Given the description of an element on the screen output the (x, y) to click on. 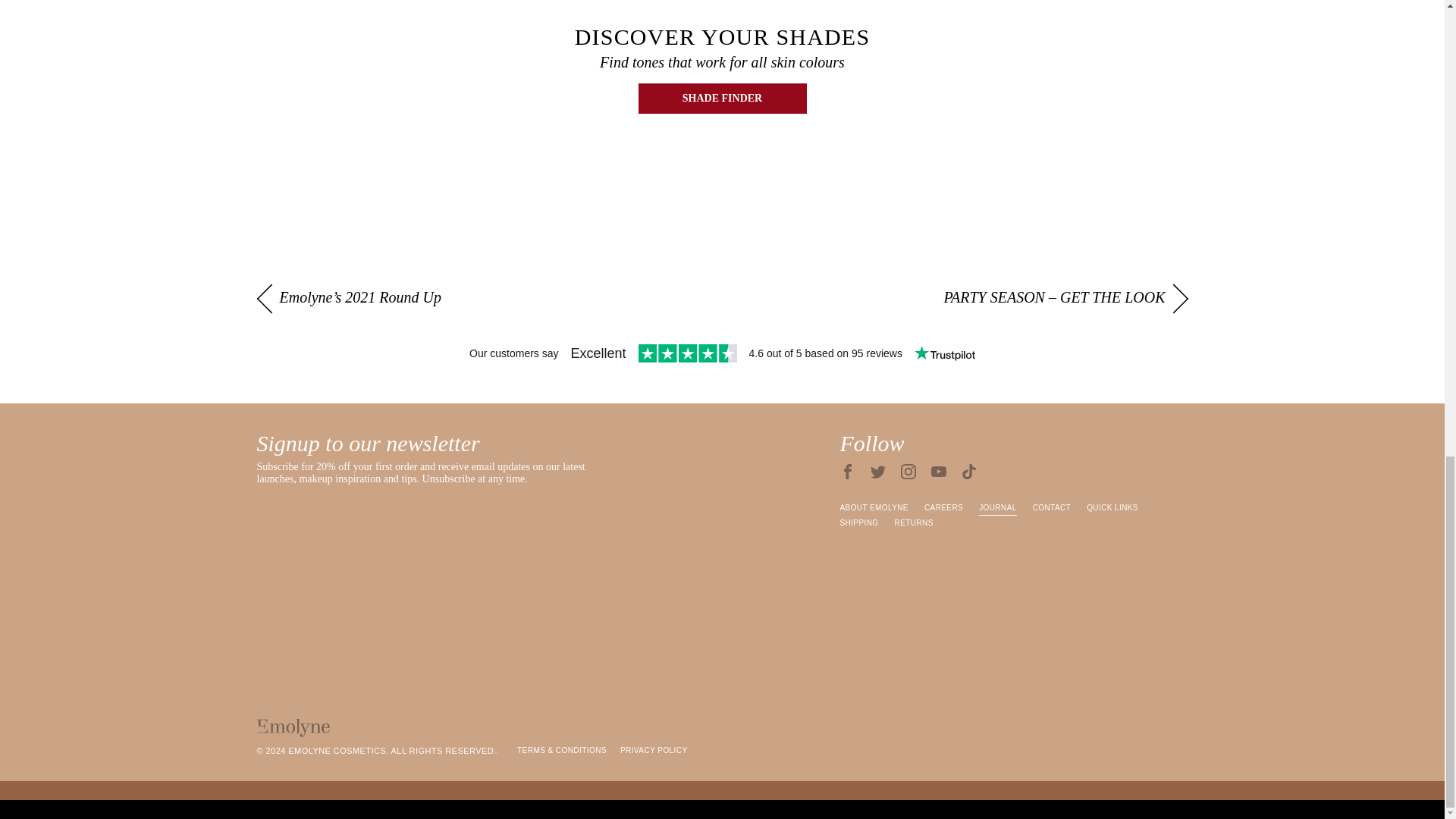
JOURNAL (997, 507)
Facebook (848, 471)
Youtube (938, 471)
PRIVACY POLICY (653, 750)
Twitter (877, 471)
ABOUT EMOLYNE (874, 507)
CAREERS (943, 507)
QUICK LINKS (1112, 507)
CONTACT (1051, 507)
SHADE FINDER (722, 98)
Instagram (908, 471)
TikTok (968, 471)
